Given the description of an element on the screen output the (x, y) to click on. 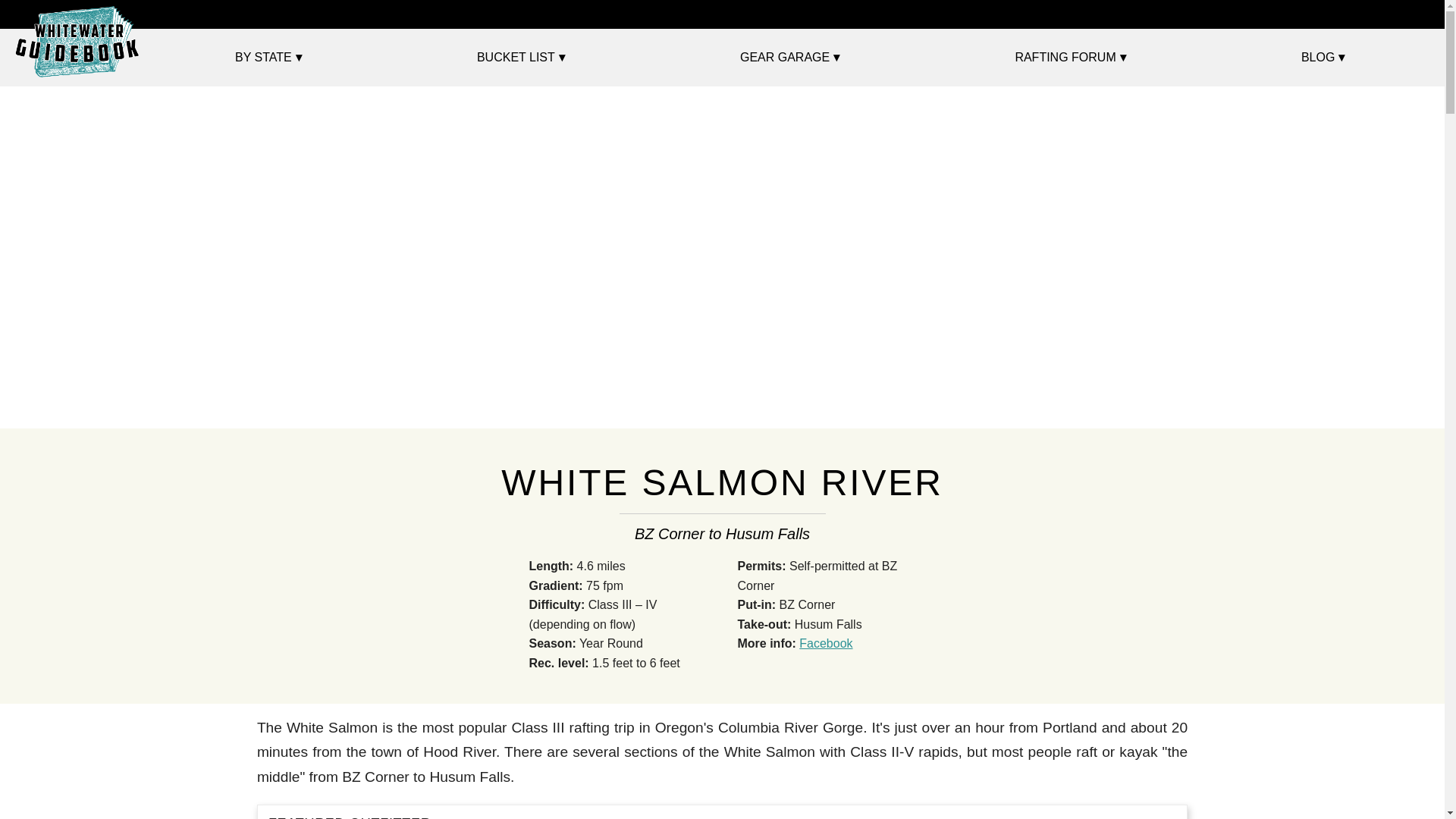
Facebook (825, 643)
BLOG (1322, 57)
BY STATE (268, 57)
RAFTING FORUM (1070, 57)
BUCKET LIST (520, 57)
GEAR GARAGE (789, 57)
